Given the description of an element on the screen output the (x, y) to click on. 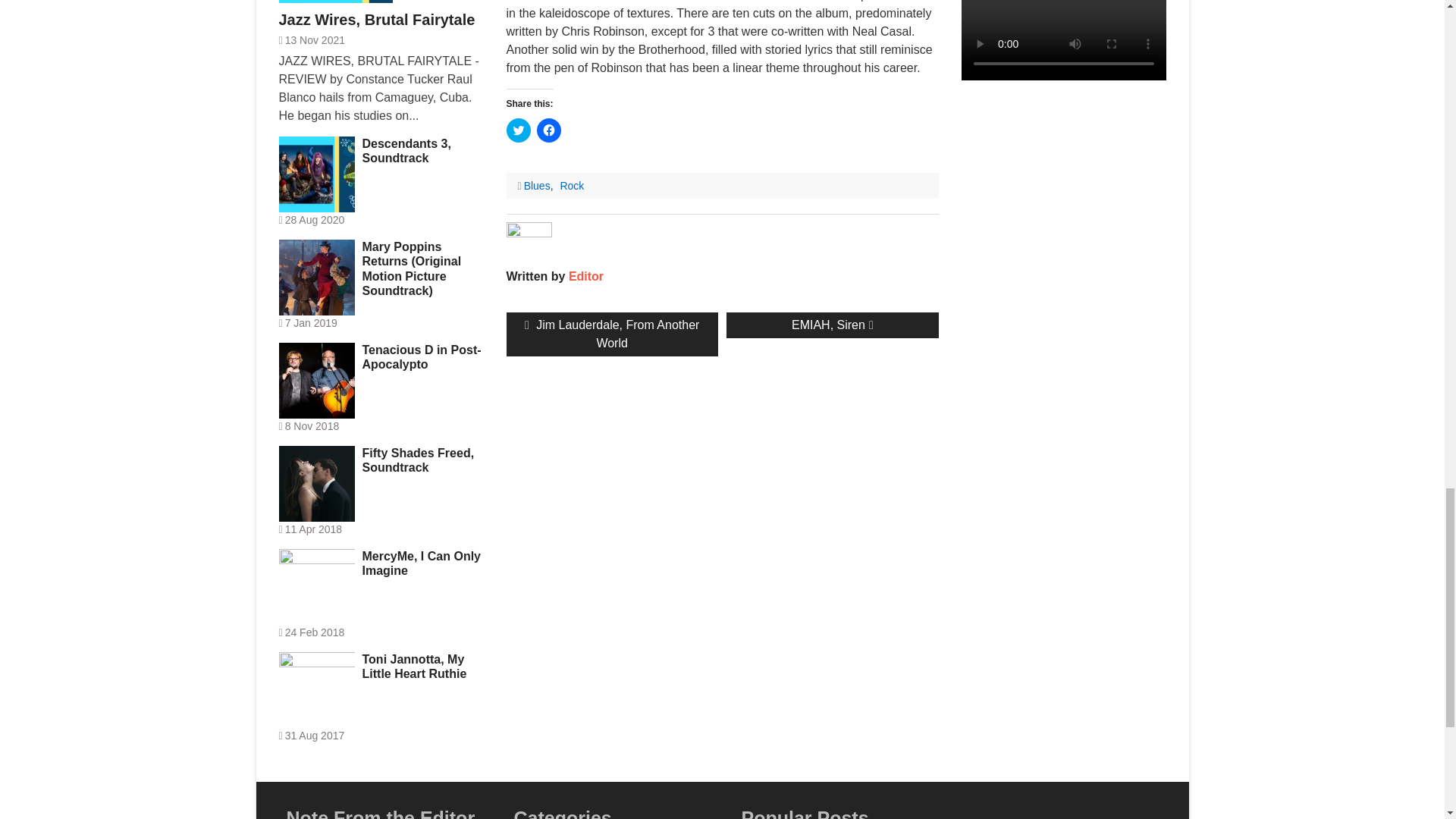
Editor (611, 334)
Rock (586, 276)
Blues (571, 185)
Click to share on Facebook (537, 185)
Posts by Editor (548, 129)
Click to share on Twitter (586, 276)
